Given the description of an element on the screen output the (x, y) to click on. 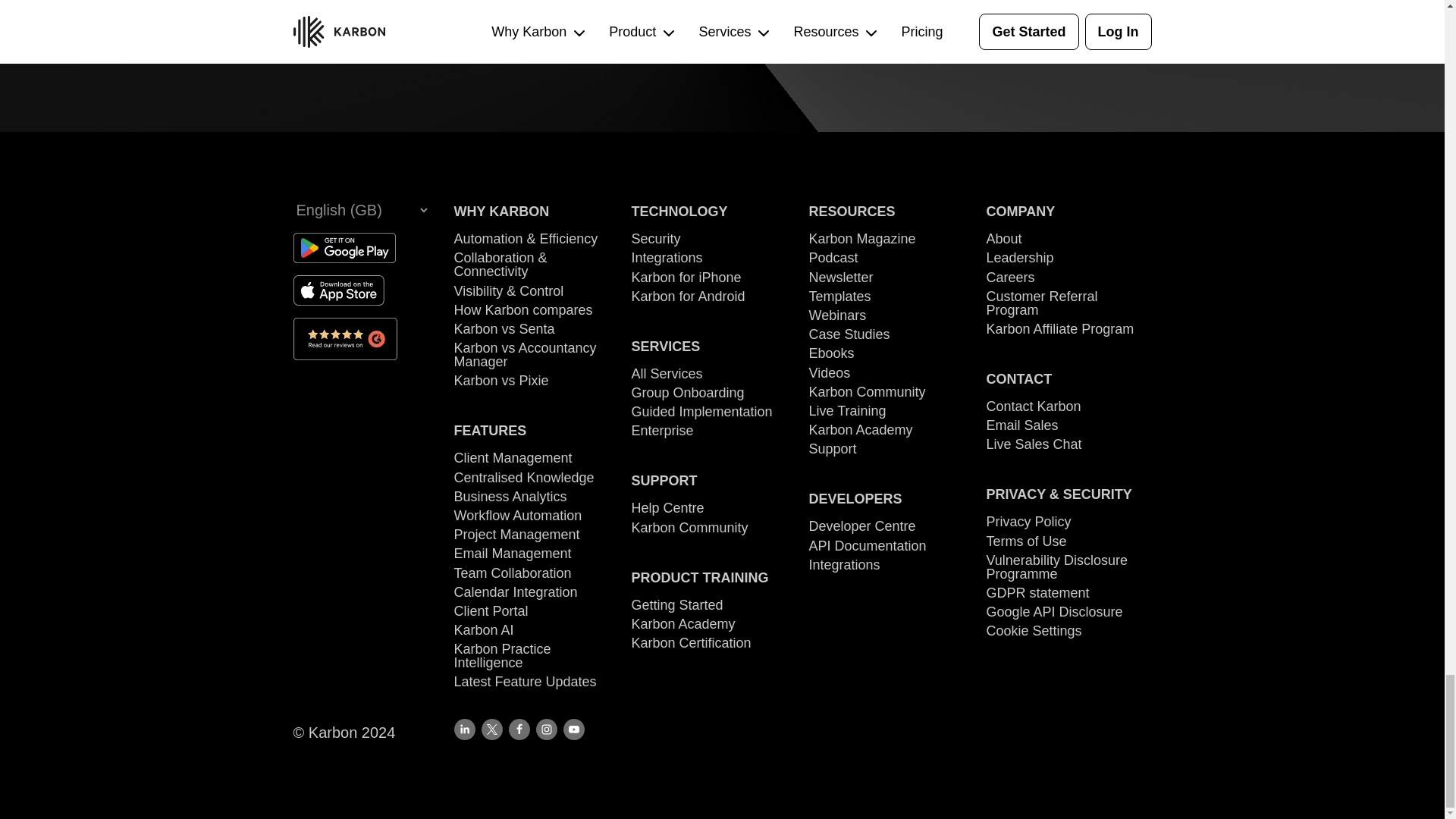
Karbon on facebook (518, 729)
Karbon on YouTube (572, 729)
Karbon on LinkedIn (463, 729)
